Given the description of an element on the screen output the (x, y) to click on. 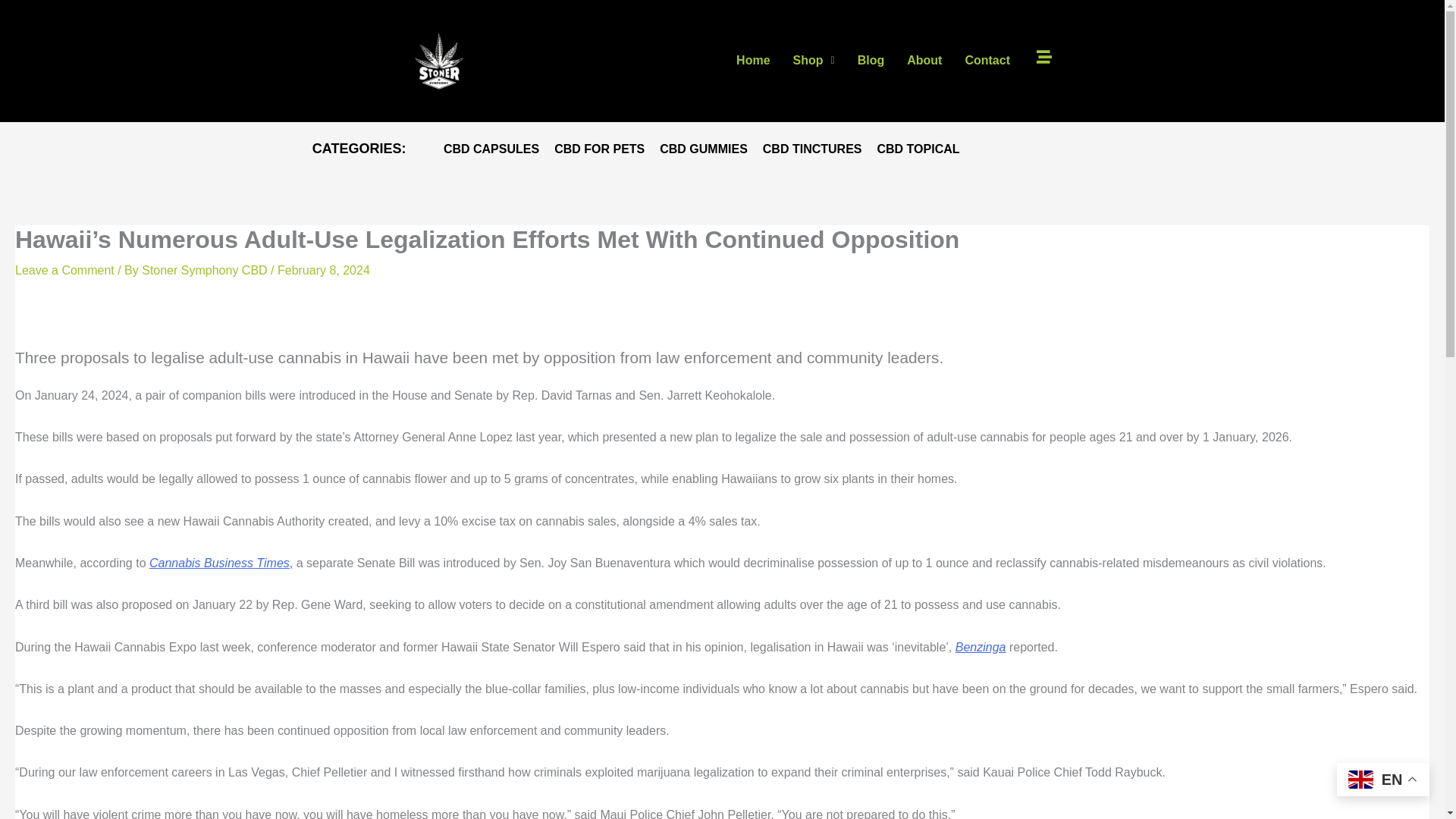
CBD TINCTURES (812, 149)
Home (752, 60)
Shop (813, 60)
Stoner Symphony CBD (205, 269)
Contact (987, 60)
Benzinga (980, 646)
About (924, 60)
Blog (870, 60)
Leave a Comment (64, 269)
CBD CAPSULES (491, 149)
